Given the description of an element on the screen output the (x, y) to click on. 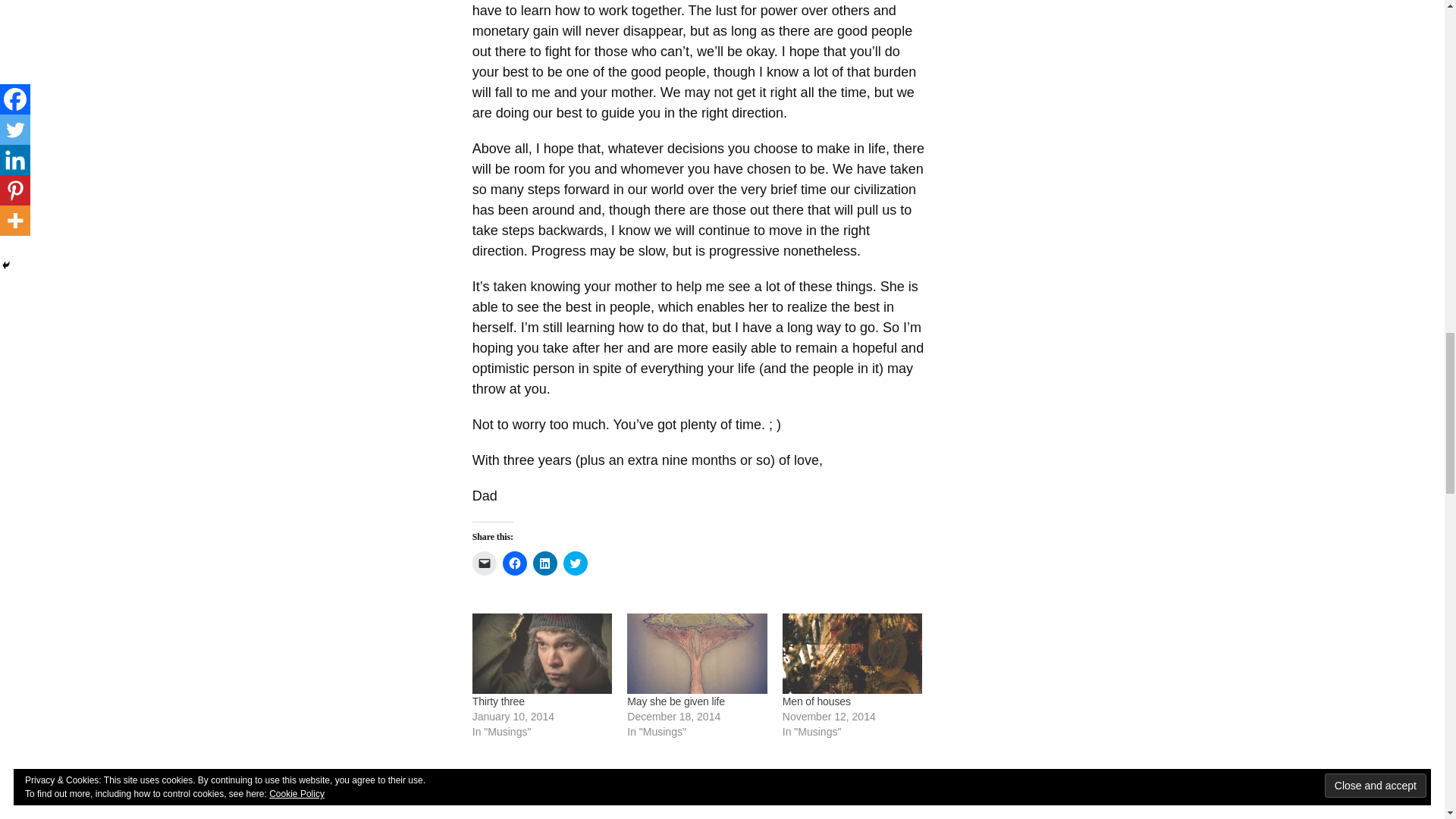
May she be given life (676, 701)
Click to share on Facebook (514, 563)
Click to share on Twitter (575, 563)
Men of houses (853, 652)
Click to email a link to a friend (483, 563)
Thirty three (541, 652)
Click to share on LinkedIn (544, 563)
May she be given life (697, 652)
Men of houses (816, 701)
Thirty three (497, 701)
